Given the description of an element on the screen output the (x, y) to click on. 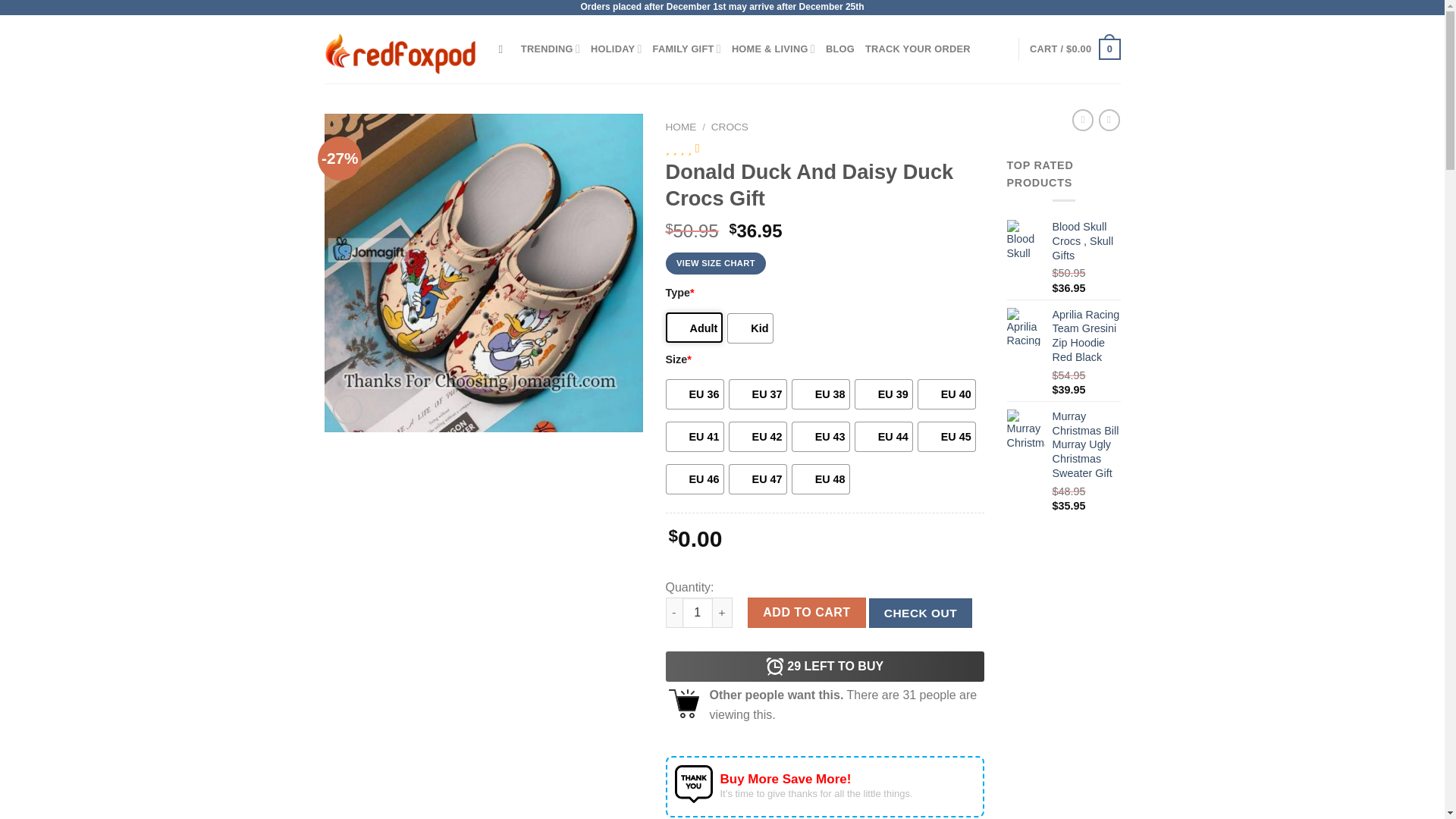
Zoom (347, 409)
TRACK YOUR ORDER (917, 49)
Cart (1074, 48)
Donald Duck And Daisy Duck Crocs Gift (483, 272)
HOLIDAY (616, 48)
Adult (694, 327)
1 (697, 612)
EU 36 (694, 394)
HOME (681, 126)
TRENDING (550, 48)
